Given the description of an element on the screen output the (x, y) to click on. 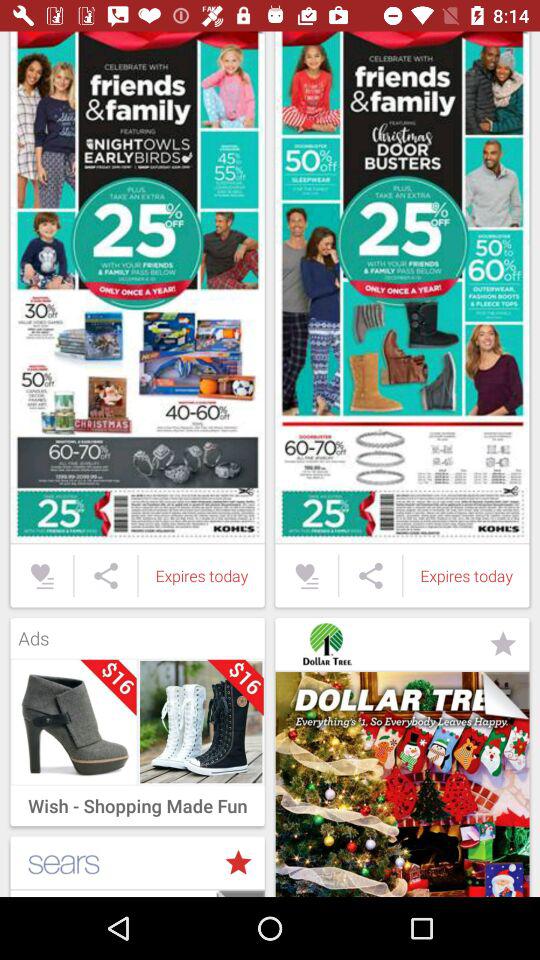
swipe to the ads icon (137, 633)
